Given the description of an element on the screen output the (x, y) to click on. 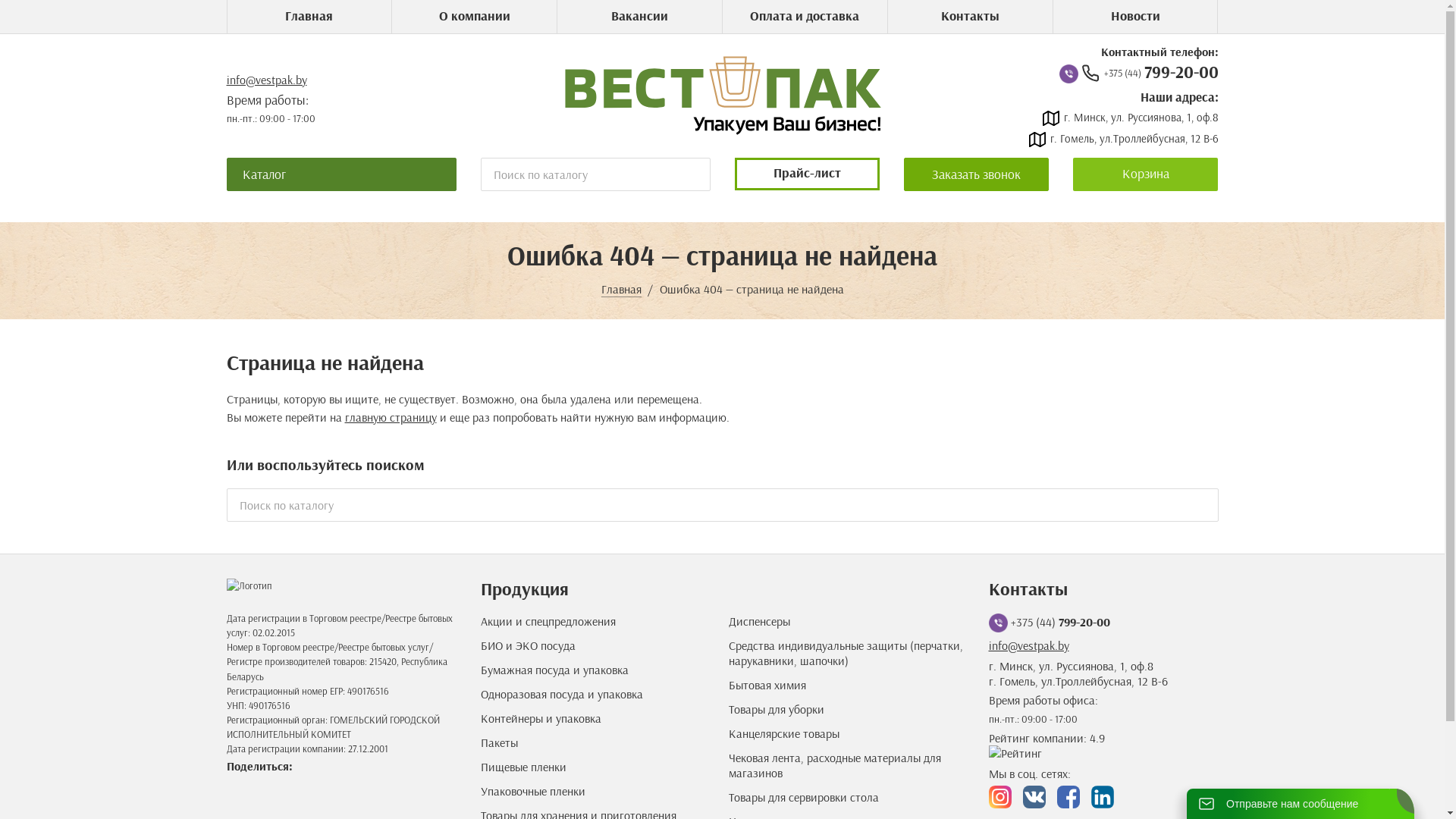
info@vestpak.by Element type: text (265, 79)
Created with Fabric.js 1.7.22 Element type: text (1107, 796)
info@vestpak.by Element type: text (1028, 644)
+375 (44) 799-20-00 Element type: text (1059, 621)
+375 (44) 799-20-00 Element type: text (1149, 71)
